Given the description of an element on the screen output the (x, y) to click on. 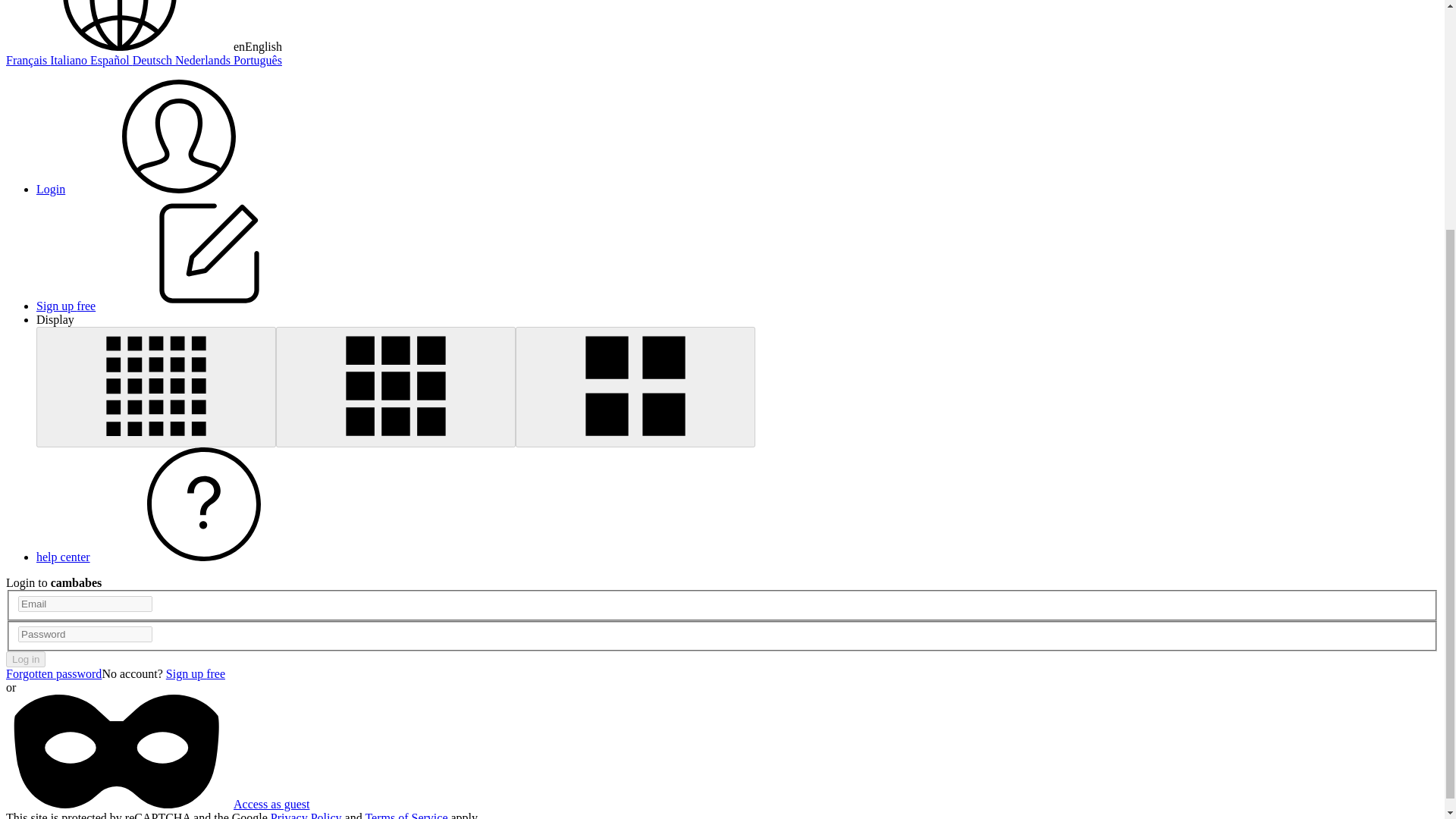
Nederlands (203, 60)
Sign up free (179, 305)
Italiano (69, 60)
Access as guest (156, 803)
Login (164, 188)
help center (176, 556)
Log in (25, 659)
Deutsch (153, 60)
Forgotten password (53, 673)
Sign up free (195, 673)
